Given the description of an element on the screen output the (x, y) to click on. 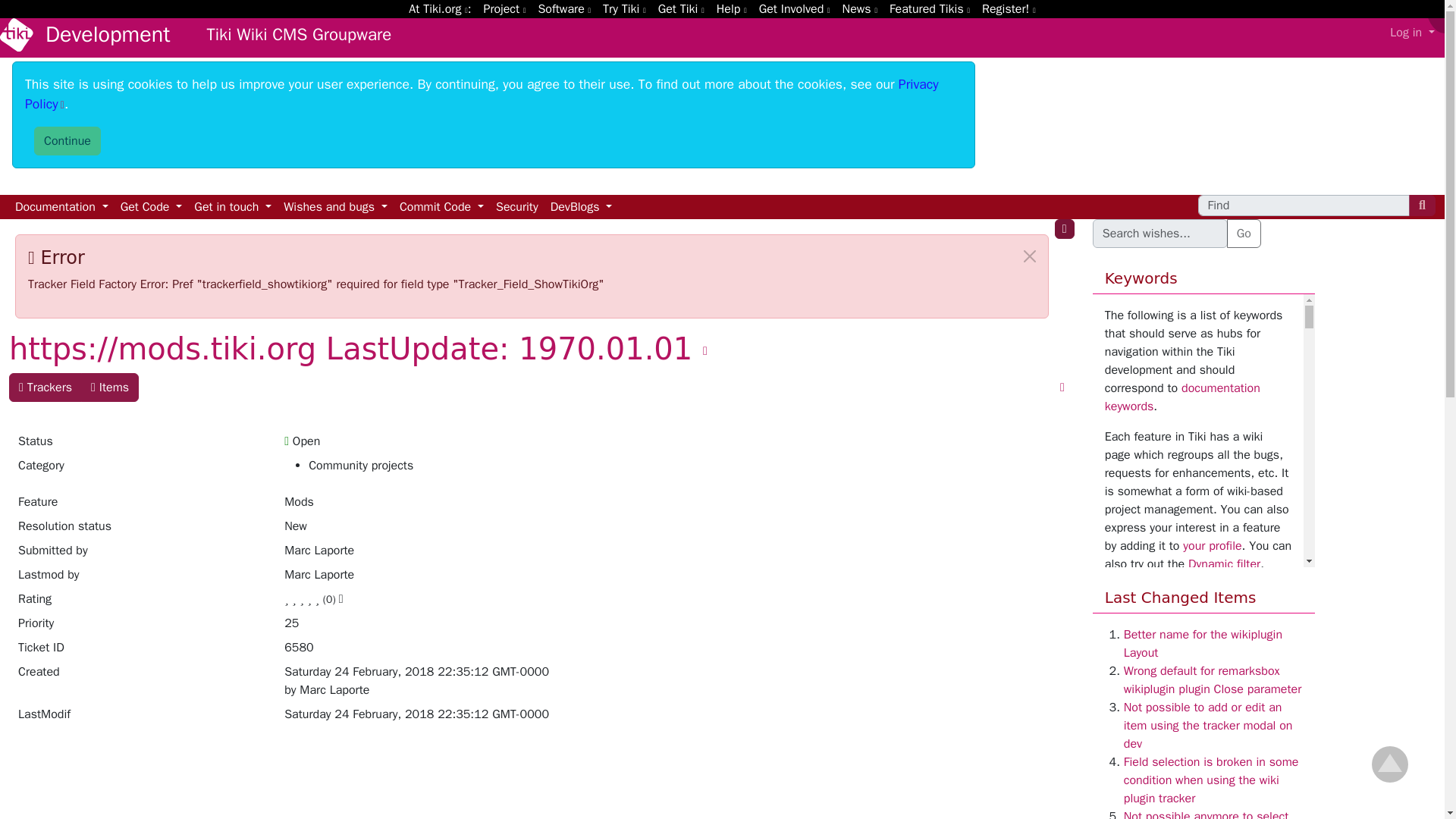
Resolution status  (141, 528)
Commit Code (441, 206)
Toggle right modules (1064, 229)
Go (1243, 233)
Status (141, 444)
External link (481, 94)
:Votes (331, 599)
Continue (66, 140)
Continue (66, 140)
Feature (141, 504)
Wishes and bugs (335, 206)
Rating (141, 601)
Get in touch (232, 206)
DevBlogs (581, 206)
Submitted by (141, 553)
